Given the description of an element on the screen output the (x, y) to click on. 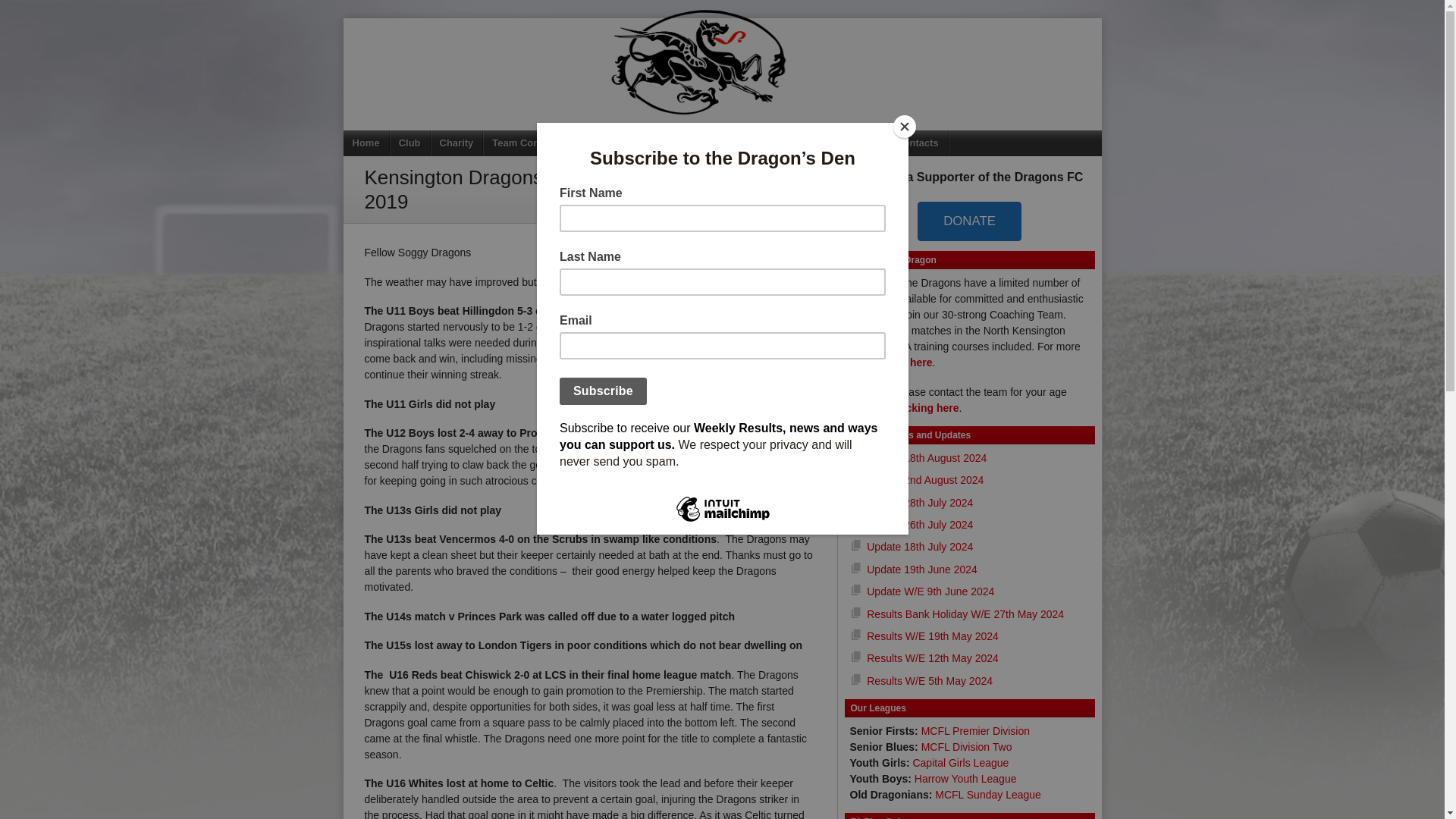
Charity (456, 143)
Education (692, 143)
Safeguarding (767, 143)
Home (365, 143)
Club Contacts (906, 143)
Club (410, 143)
Team Contacts (527, 143)
Join Us (835, 143)
Match Reports (615, 143)
